Given the description of an element on the screen output the (x, y) to click on. 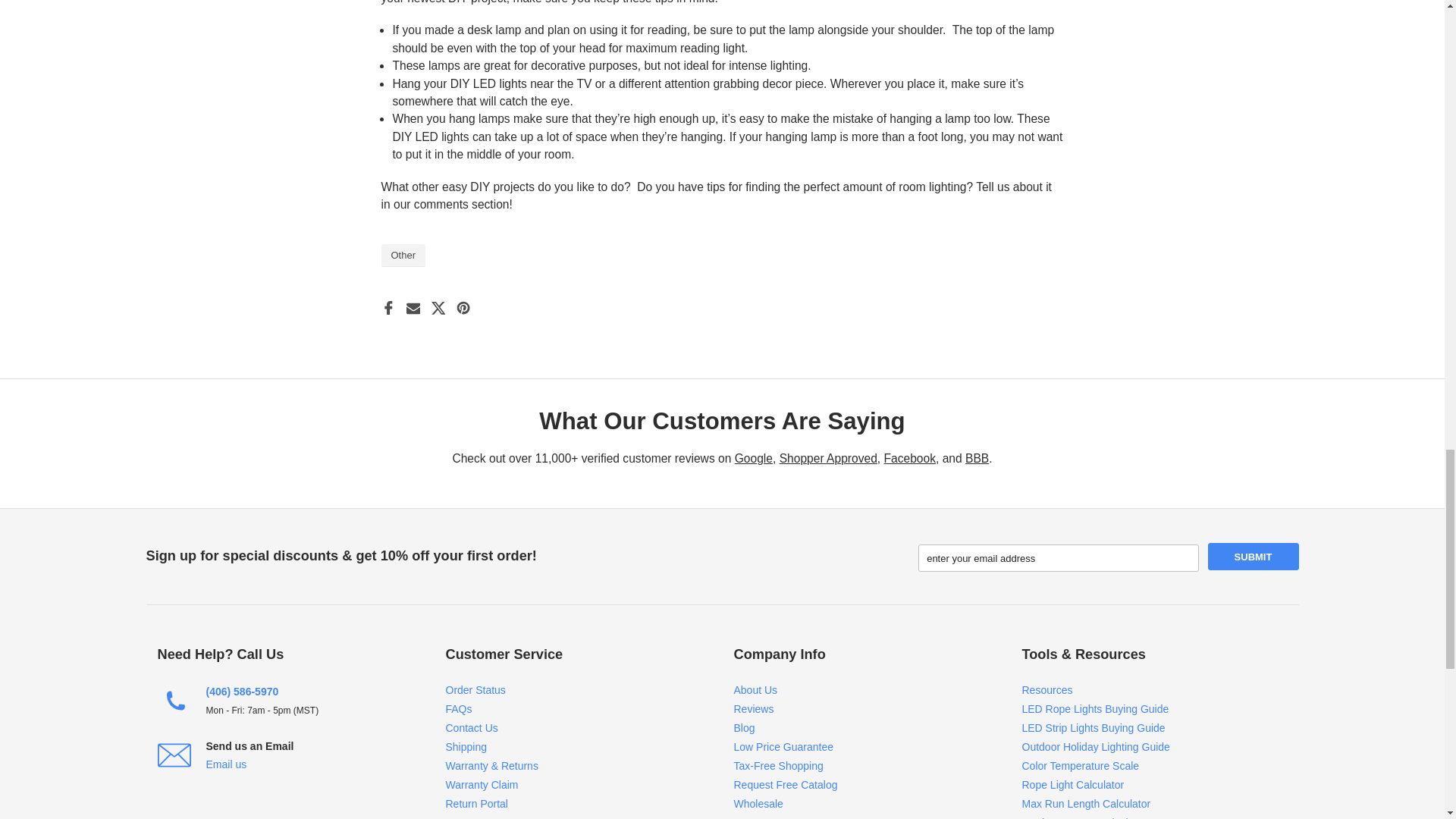
Pinterest (463, 308)
Facebook (387, 308)
Email (413, 308)
X (437, 308)
Submit (1252, 556)
